Given the description of an element on the screen output the (x, y) to click on. 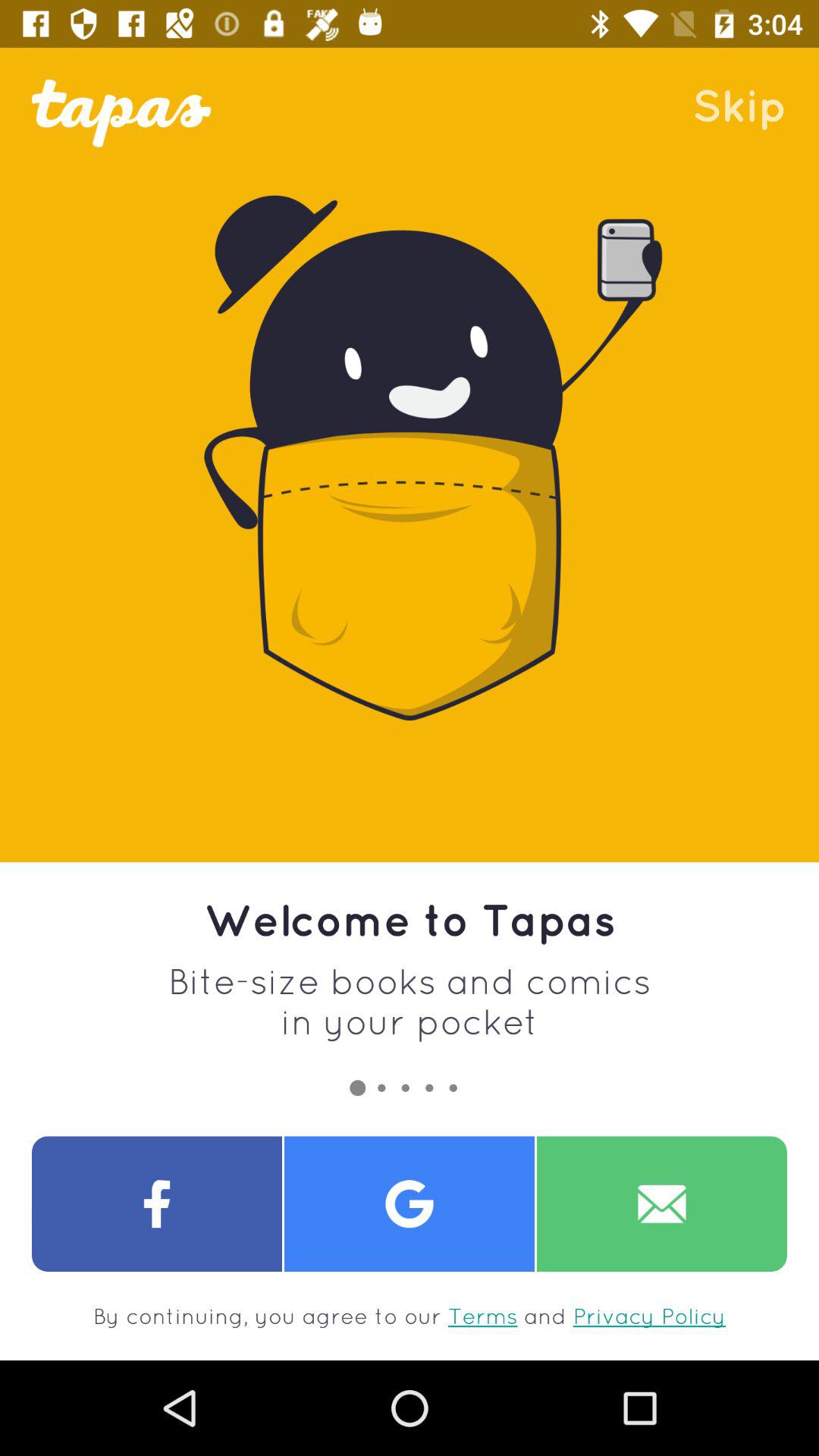
sign in with facebook (156, 1203)
